Given the description of an element on the screen output the (x, y) to click on. 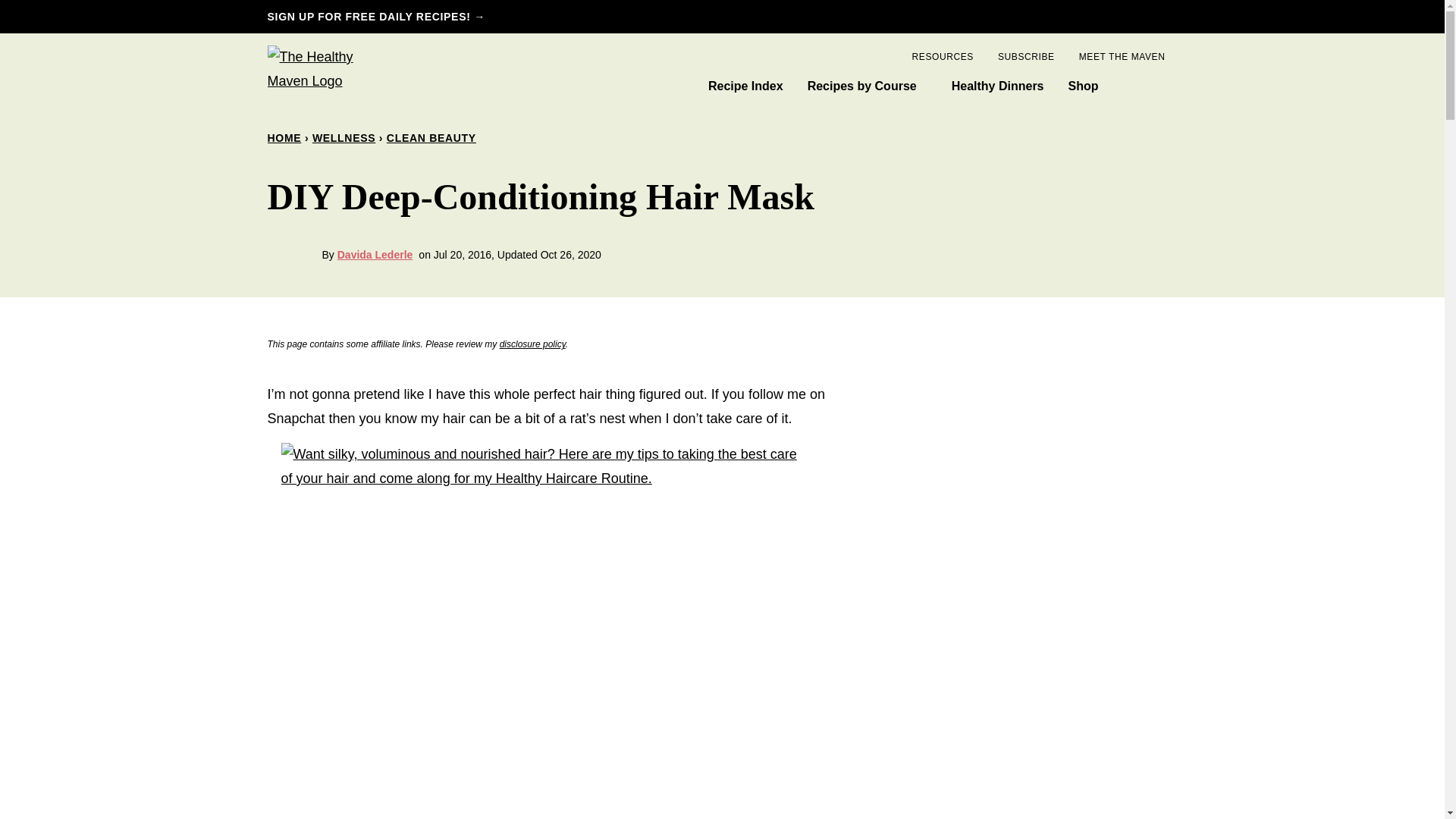
CLEAN BEAUTY (431, 137)
Healthy Dinners (998, 86)
Recipe Index (744, 86)
disclosure policy (532, 344)
Recipes by Course (866, 86)
MEET THE MAVEN (1122, 56)
HOME (283, 137)
My Favorites (1125, 87)
RESOURCES (942, 56)
Shop (1082, 86)
